Given the description of an element on the screen output the (x, y) to click on. 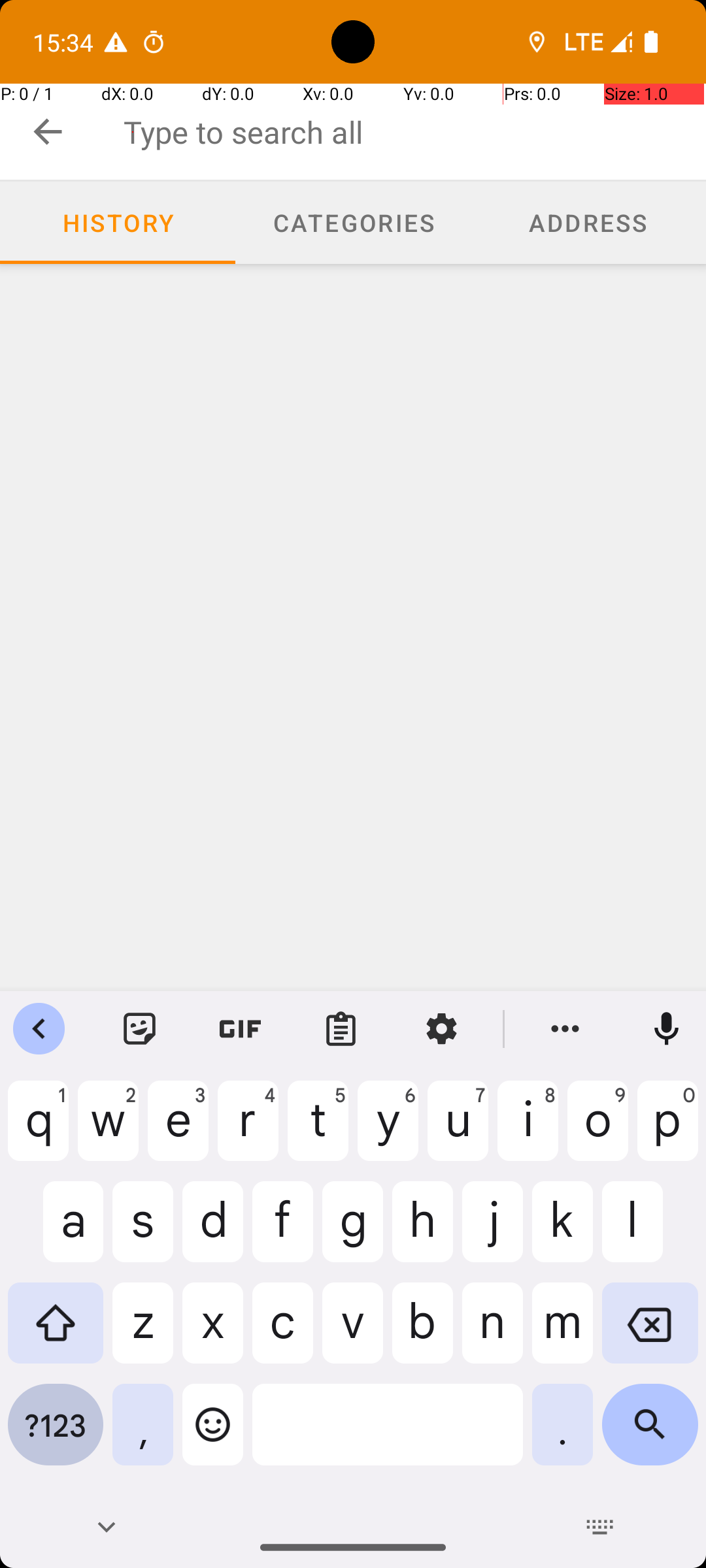
Type to search all Element type: android.widget.EditText (414, 131)
HISTORY Element type: android.widget.TextView (117, 222)
CATEGORIES Element type: android.widget.TextView (352, 222)
ADDRESS Element type: android.widget.TextView (587, 222)
